Given the description of an element on the screen output the (x, y) to click on. 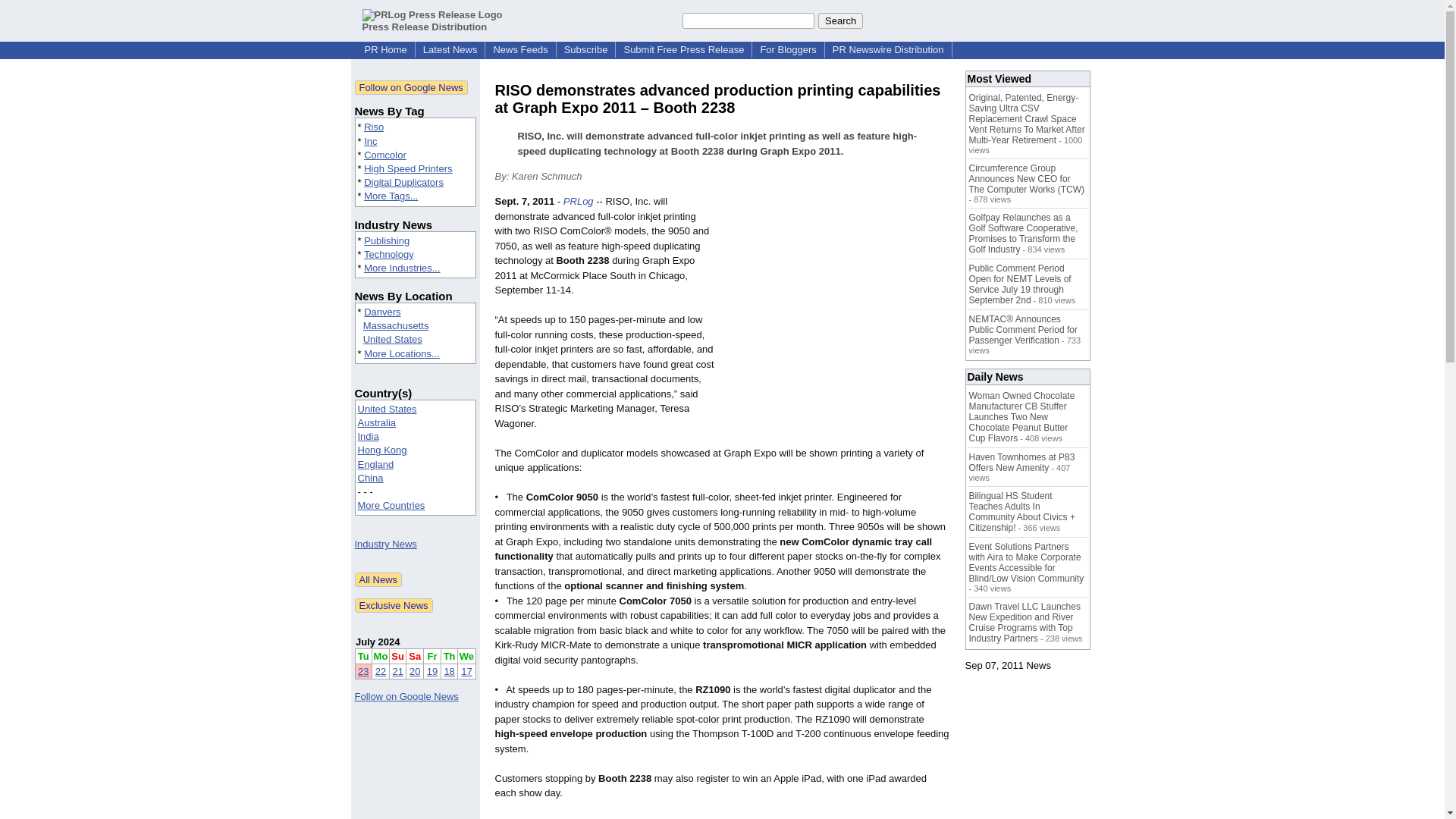
23 (363, 671)
News Feeds (519, 49)
Technology (388, 254)
July 2024 (377, 641)
Submit Free Press Release (683, 49)
Search (840, 20)
Exclusive News (393, 605)
Press Release Distribution (432, 20)
18 (449, 671)
High Speed Printers (407, 168)
Inc (370, 141)
United States (387, 408)
All News (379, 579)
Hong Kong (382, 449)
More Tags... (390, 195)
